Given the description of an element on the screen output the (x, y) to click on. 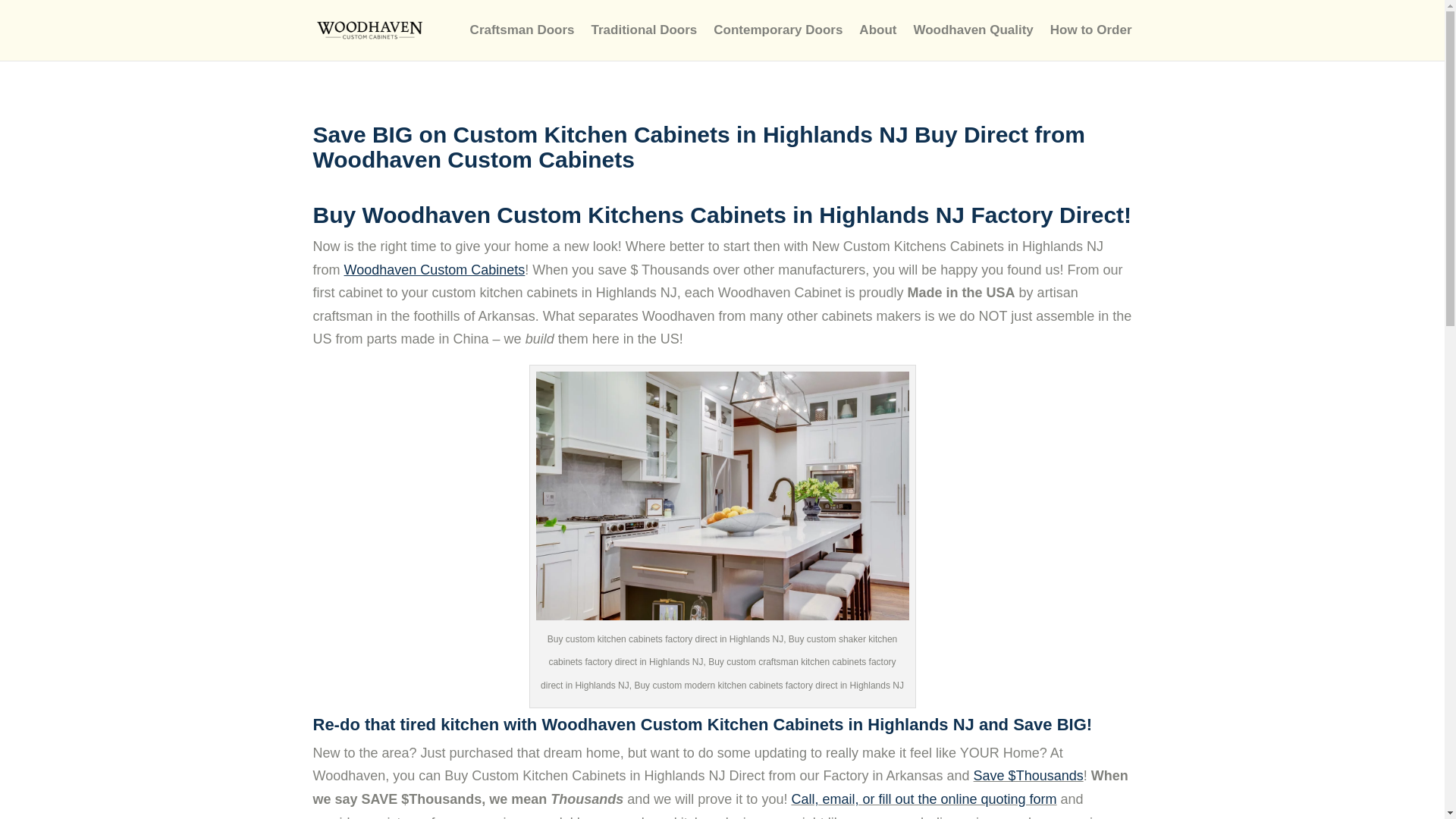
Woodhaven Custom Cabinets (434, 269)
How to Order (1090, 42)
Traditional Doors (644, 42)
Contemporary Doors (778, 42)
About (877, 42)
Call, email, or fill out the online quoting form (923, 798)
Craftsman Doors (522, 42)
Woodhaven Quality (972, 42)
